Given the description of an element on the screen output the (x, y) to click on. 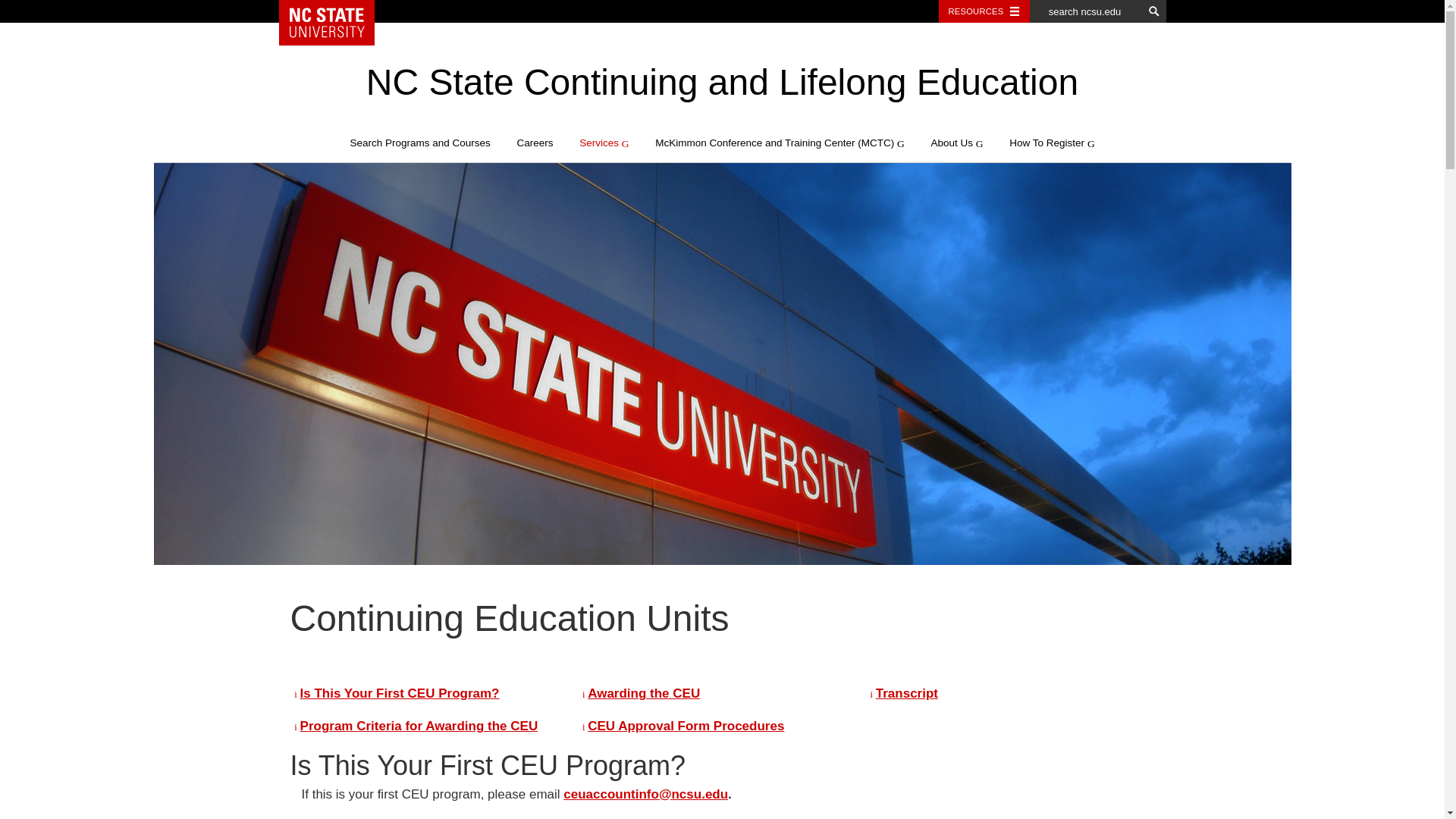
Search Programs and Courses (418, 143)
search (1154, 11)
NC State Home (332, 22)
NC State Continuing and Lifelong Education (722, 82)
Services (603, 143)
search (1154, 11)
Skip to content (186, 123)
RESOURCES (984, 11)
search (1154, 11)
Careers (534, 143)
